Given the description of an element on the screen output the (x, y) to click on. 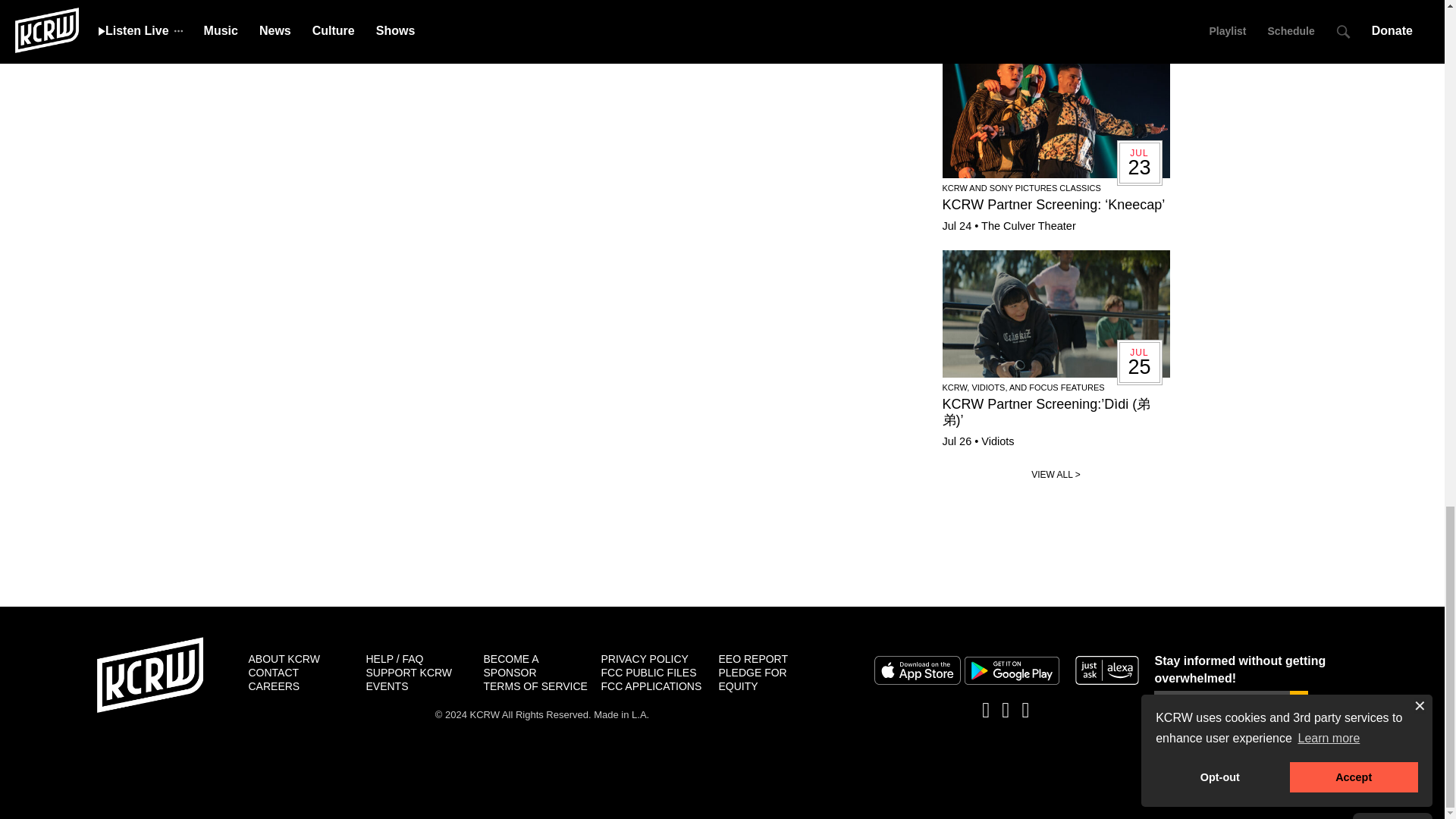
KCRW (150, 674)
Download on the App Store (916, 670)
3rd party ad content (721, 564)
Amazon Alexa enabled (1106, 670)
Get it on Google Play (1011, 670)
